Given the description of an element on the screen output the (x, y) to click on. 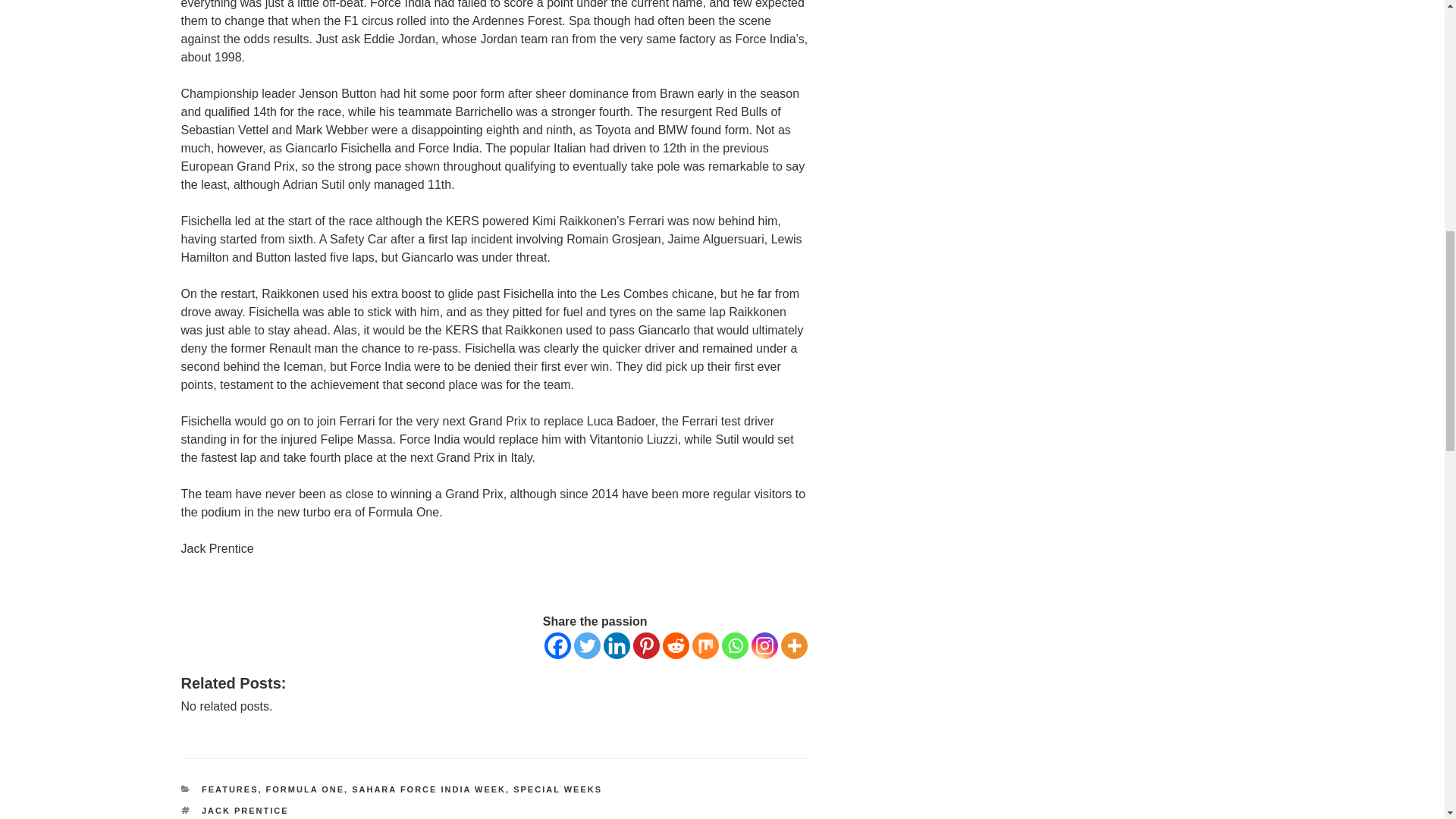
Reddit (675, 645)
Whatsapp (735, 645)
Mix (706, 645)
Pinterest (646, 645)
Linkedin (617, 645)
Facebook (557, 645)
Twitter (586, 645)
More (794, 645)
Instagram (764, 645)
